Given the description of an element on the screen output the (x, y) to click on. 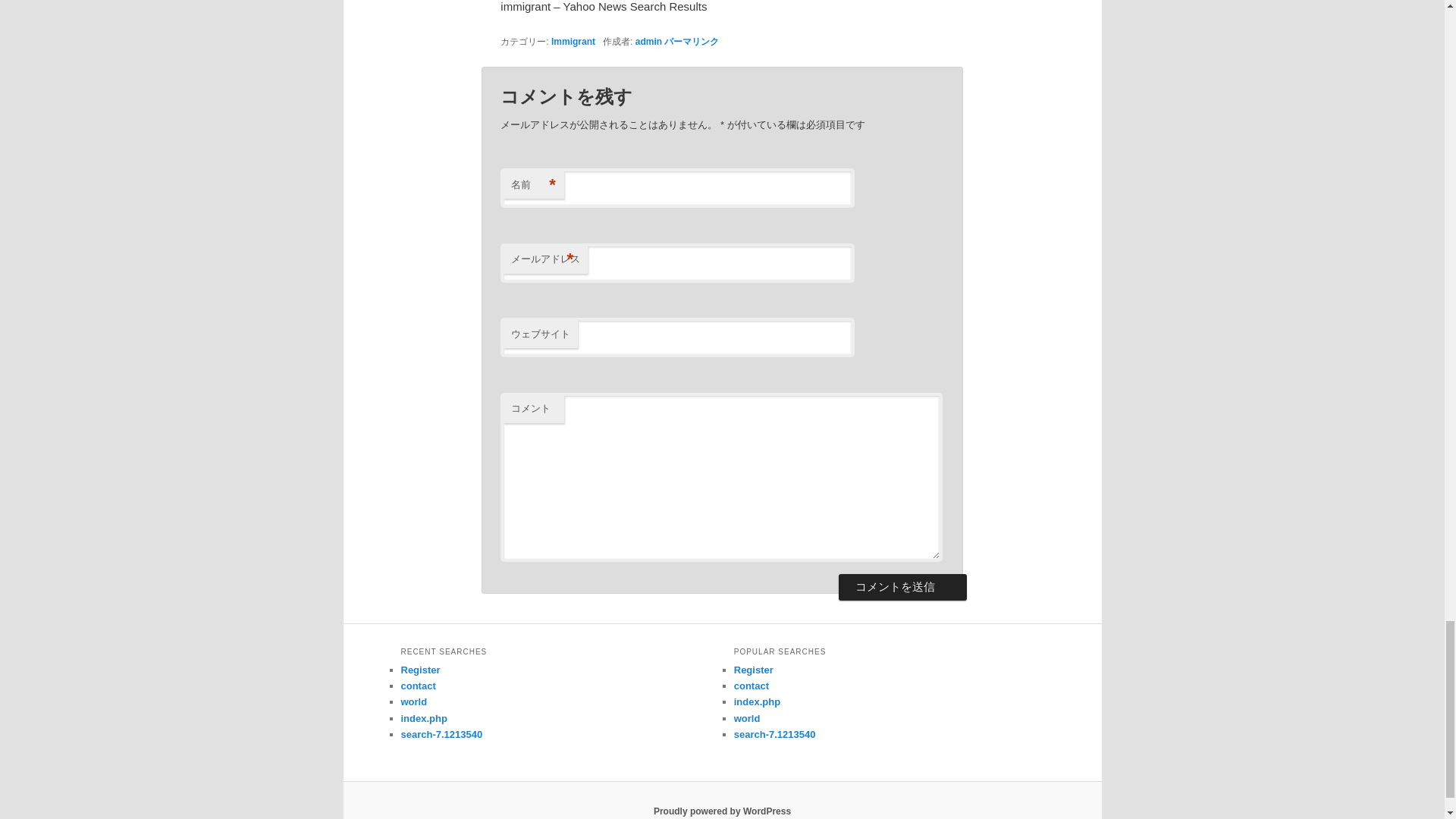
Proudly powered by WordPress (721, 810)
search-7.1213540 (440, 734)
world (413, 701)
contact (417, 685)
admin (648, 41)
search-7.1213540 (774, 734)
Immigrant (573, 41)
index.php (756, 701)
Register (419, 669)
world (746, 717)
contact (750, 685)
index.php (423, 717)
Register (753, 669)
